Given the description of an element on the screen output the (x, y) to click on. 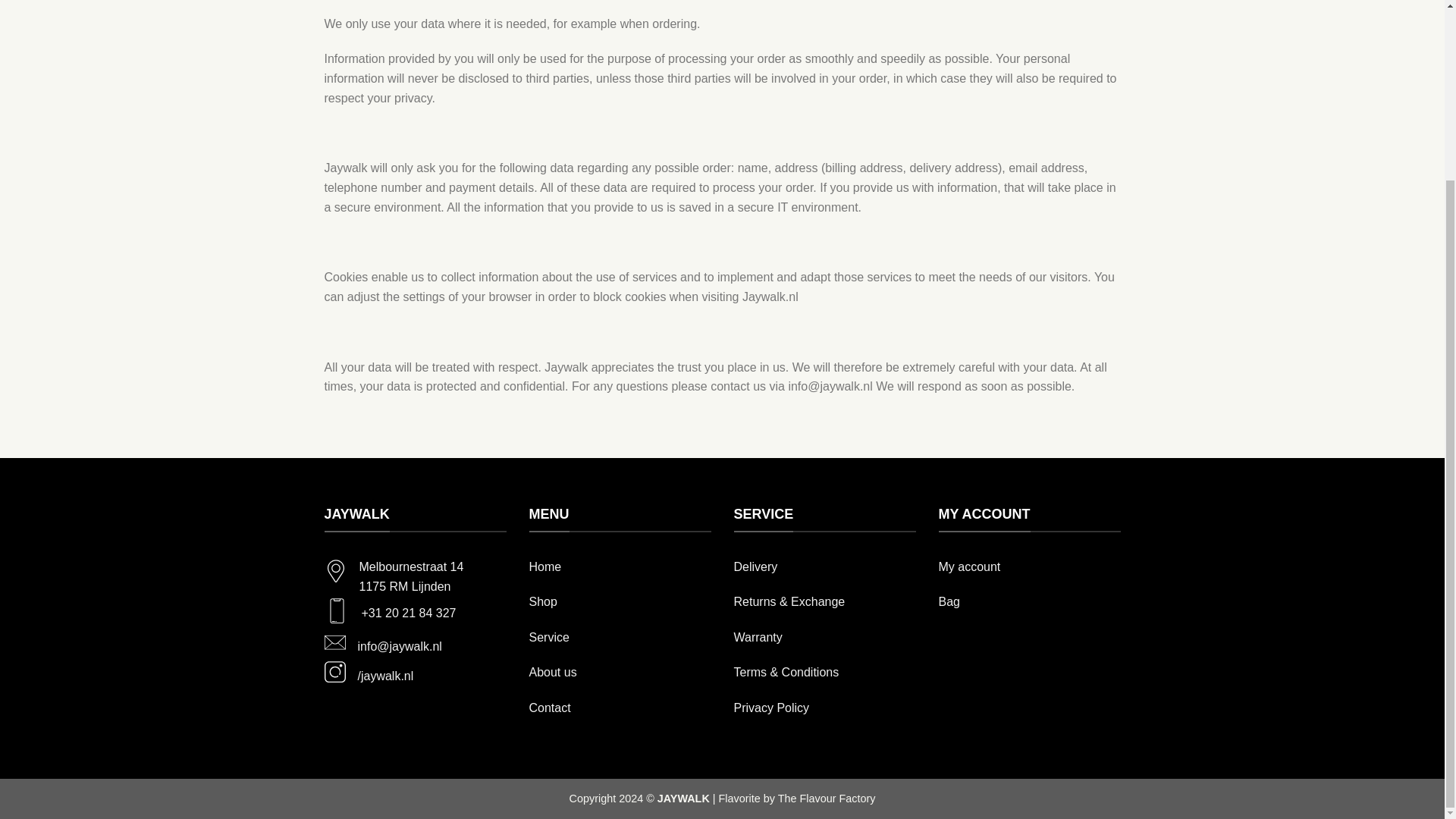
Privacy Policy (771, 707)
Service (549, 636)
About us (552, 671)
Home (545, 566)
Contact (549, 707)
Delivery (755, 566)
My account (970, 566)
Bag (949, 601)
Shop (543, 601)
Warranty (758, 636)
